Given the description of an element on the screen output the (x, y) to click on. 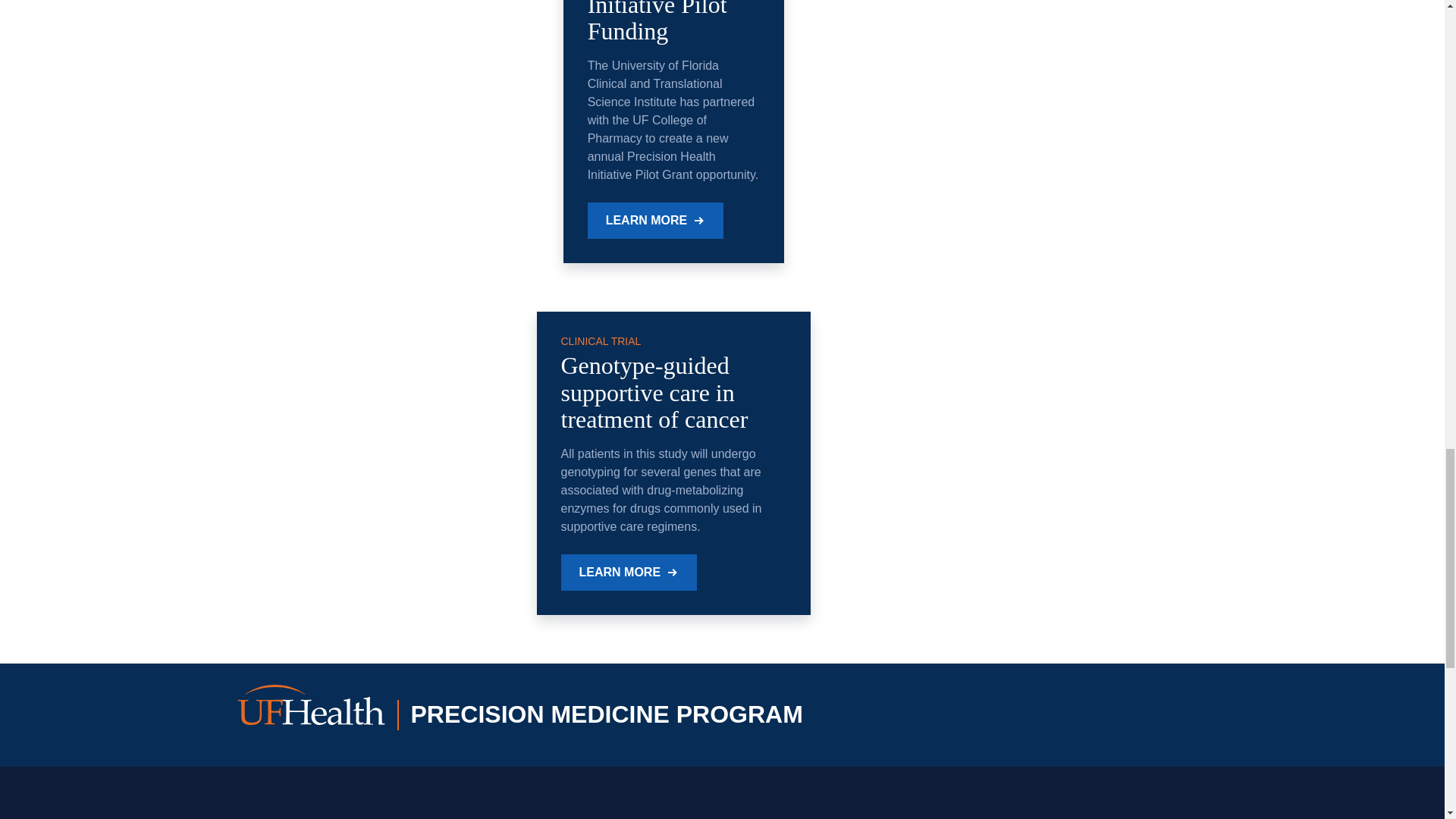
PRECISION MEDICINE PROGRAM (526, 715)
LEARN MORE (655, 220)
LEARN MORE (628, 572)
